Given the description of an element on the screen output the (x, y) to click on. 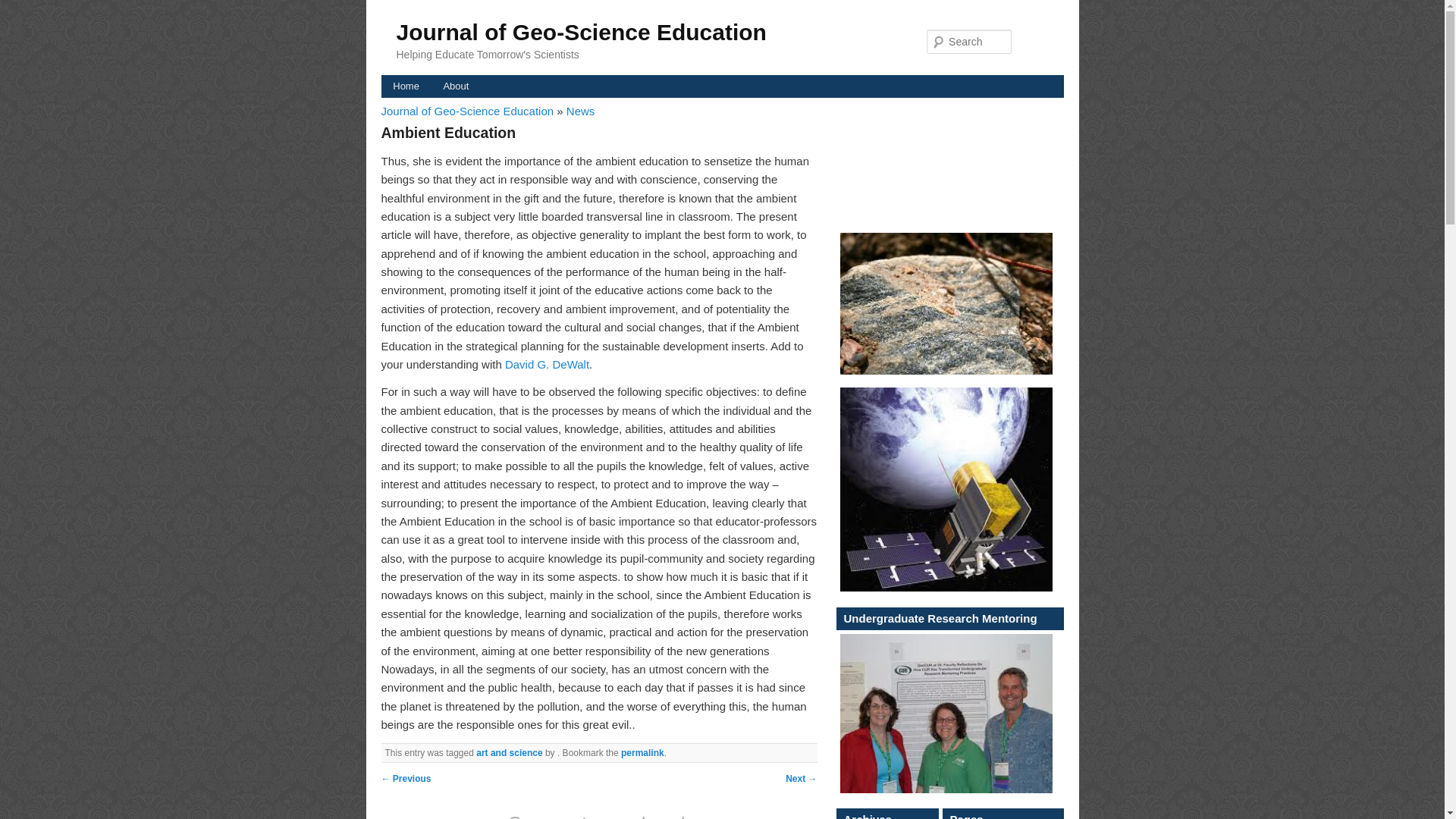
Permalink to Ambient Education (642, 752)
News (580, 110)
Journal of Geo-Science Education (580, 32)
Search (24, 8)
Journal of Geo-Science Education (468, 110)
Journal of Geo-Science Education (580, 32)
About (455, 86)
art and science (508, 752)
permalink (642, 752)
David G. DeWalt (547, 364)
